Given the description of an element on the screen output the (x, y) to click on. 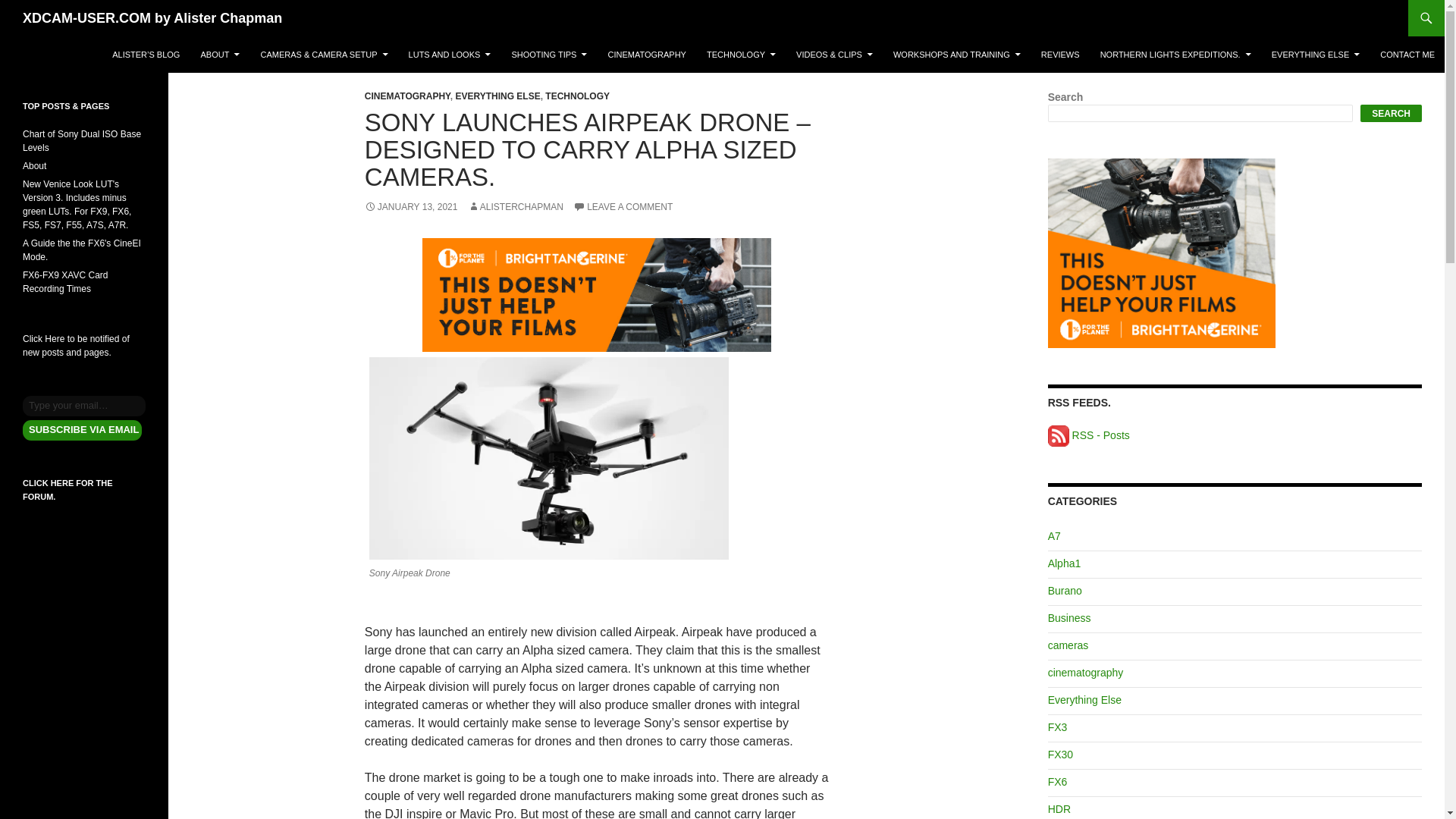
TECHNOLOGY (740, 54)
WORKSHOPS AND TRAINING (956, 54)
CINEMATOGRAPHY (646, 54)
LUTS AND LOOKS (449, 54)
NORTHERN LIGHTS EXPEDITIONS. (1175, 54)
XDCAM-USER.COM by Alister Chapman (152, 18)
REVIEWS (1060, 54)
ABOUT (219, 54)
SHOOTING TIPS (548, 54)
